Given the description of an element on the screen output the (x, y) to click on. 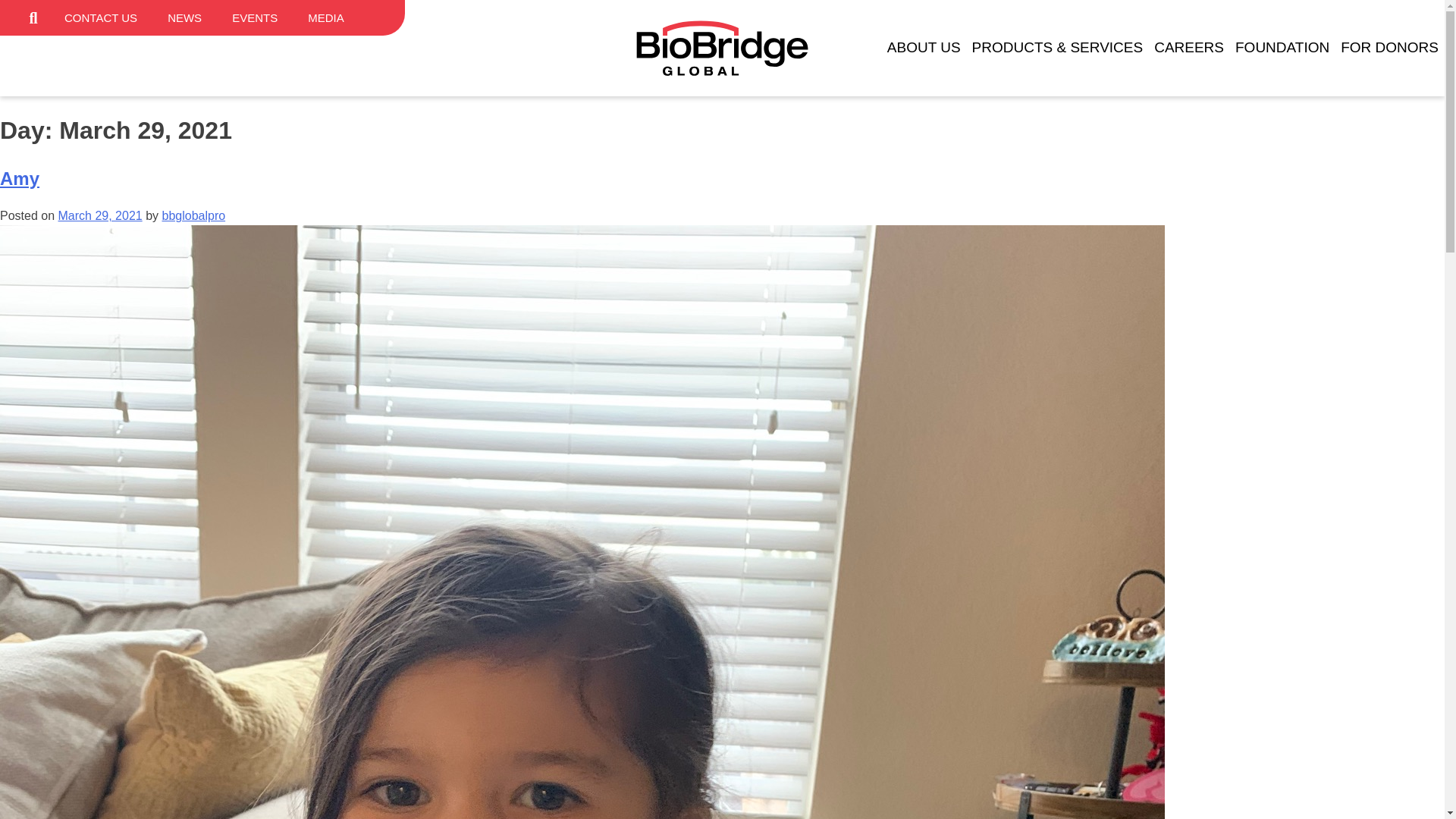
FOUNDATION (1281, 47)
FOR DONORS (1389, 47)
CONTACT US (100, 18)
MEDIA (325, 18)
ABOUT US (923, 47)
NEWS (184, 18)
EVENTS (254, 18)
CAREERS (1189, 47)
